Given the description of an element on the screen output the (x, y) to click on. 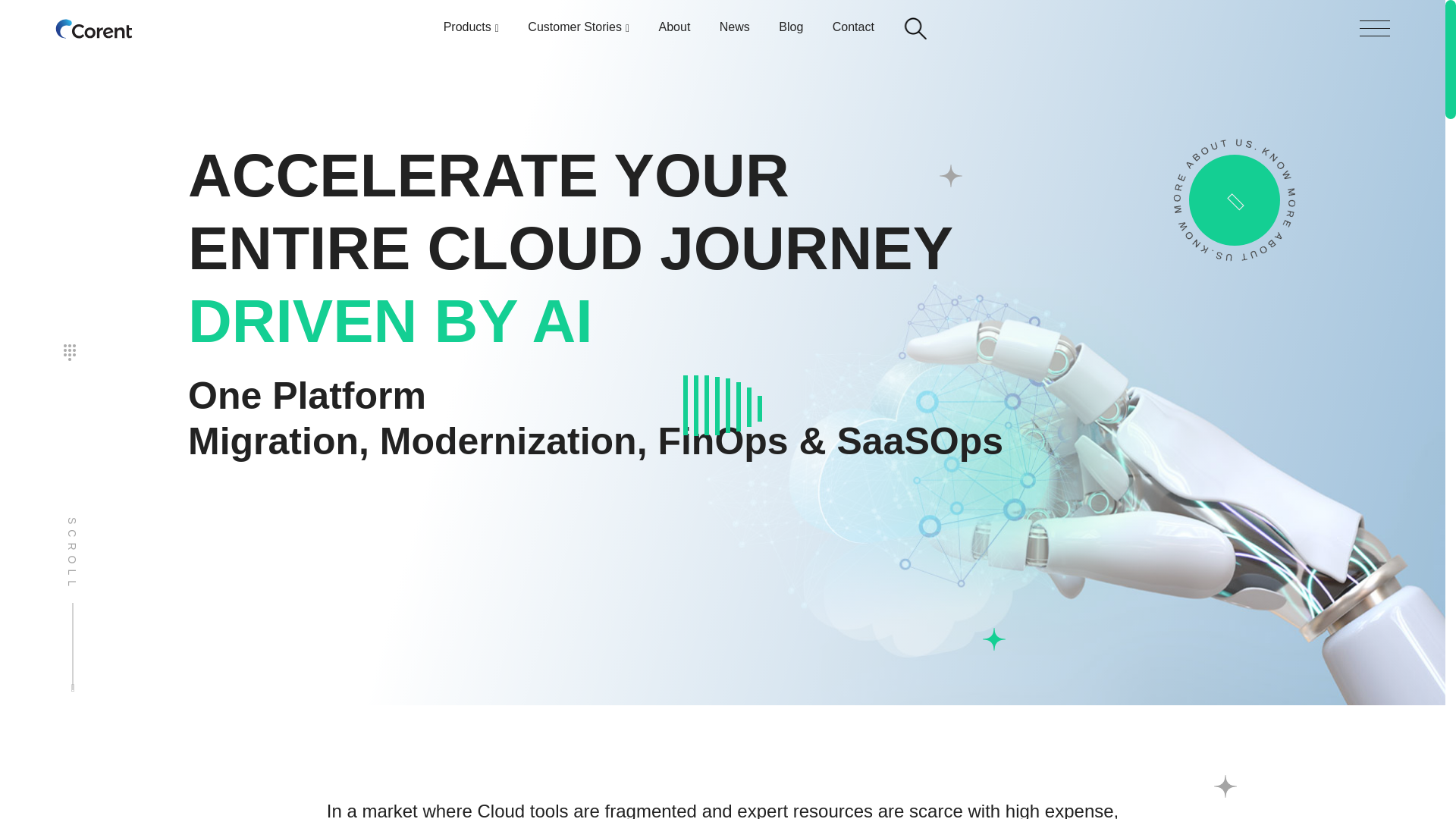
Know More About Us (1208, 174)
www.corenttech.com (93, 28)
Customer Stories (577, 30)
Corent Products (471, 30)
Customer Stories (577, 30)
Products (471, 30)
